Given the description of an element on the screen output the (x, y) to click on. 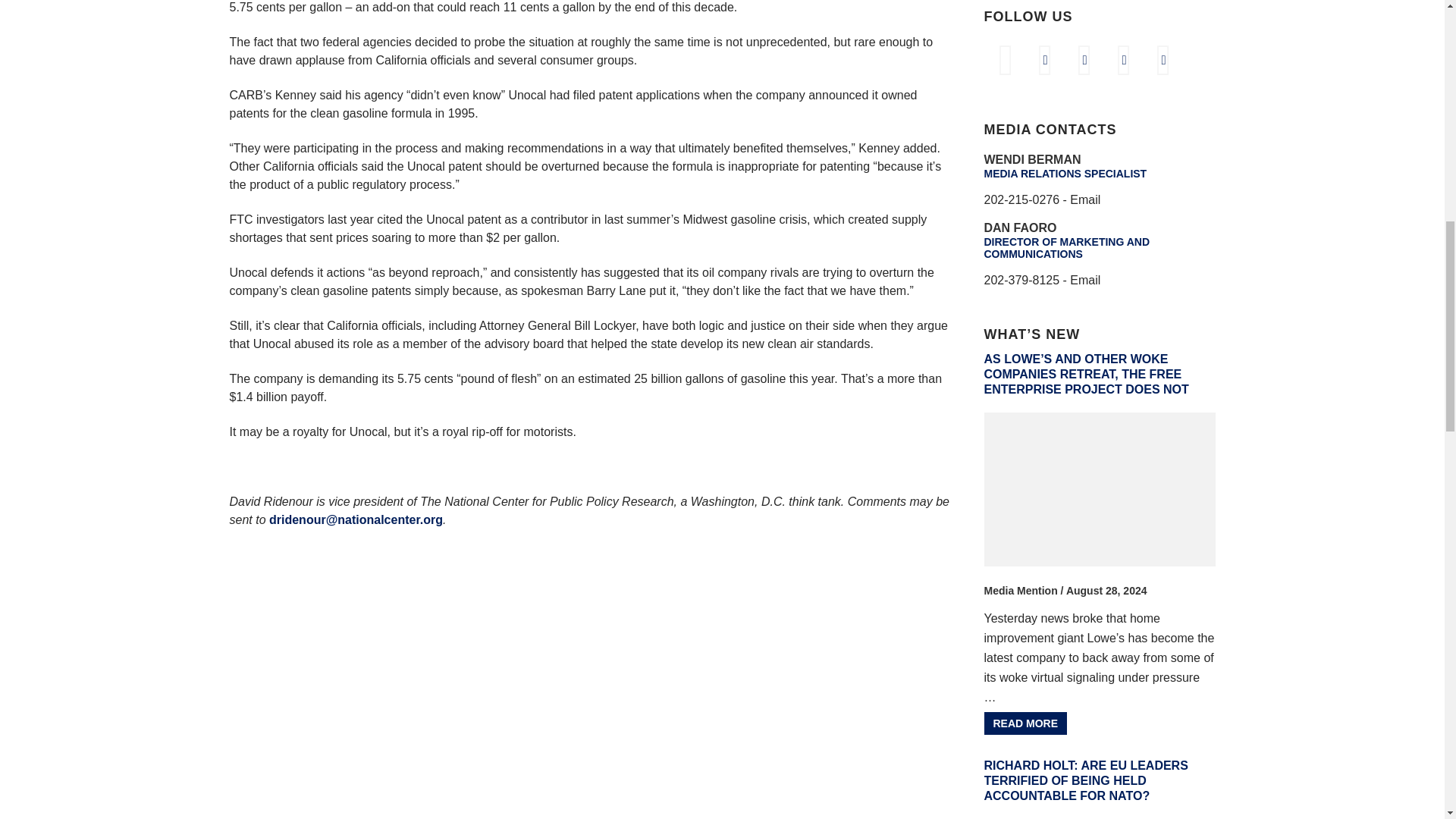
Email (1085, 199)
Email (1085, 279)
Media Mention (1021, 590)
Media Mention (1021, 590)
